Given the description of an element on the screen output the (x, y) to click on. 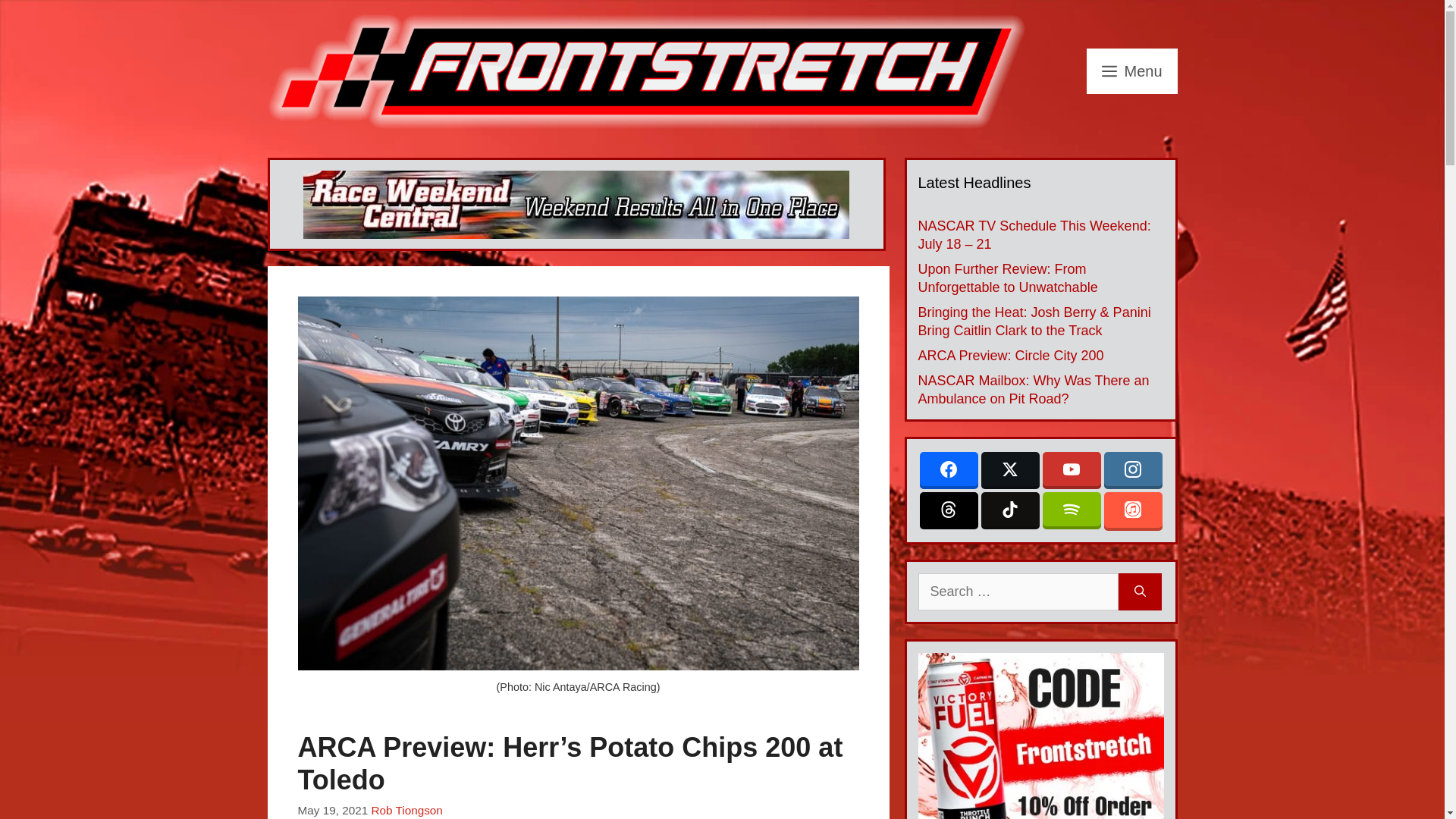
Rob Tiongson (406, 809)
Menu (1131, 71)
